Given the description of an element on the screen output the (x, y) to click on. 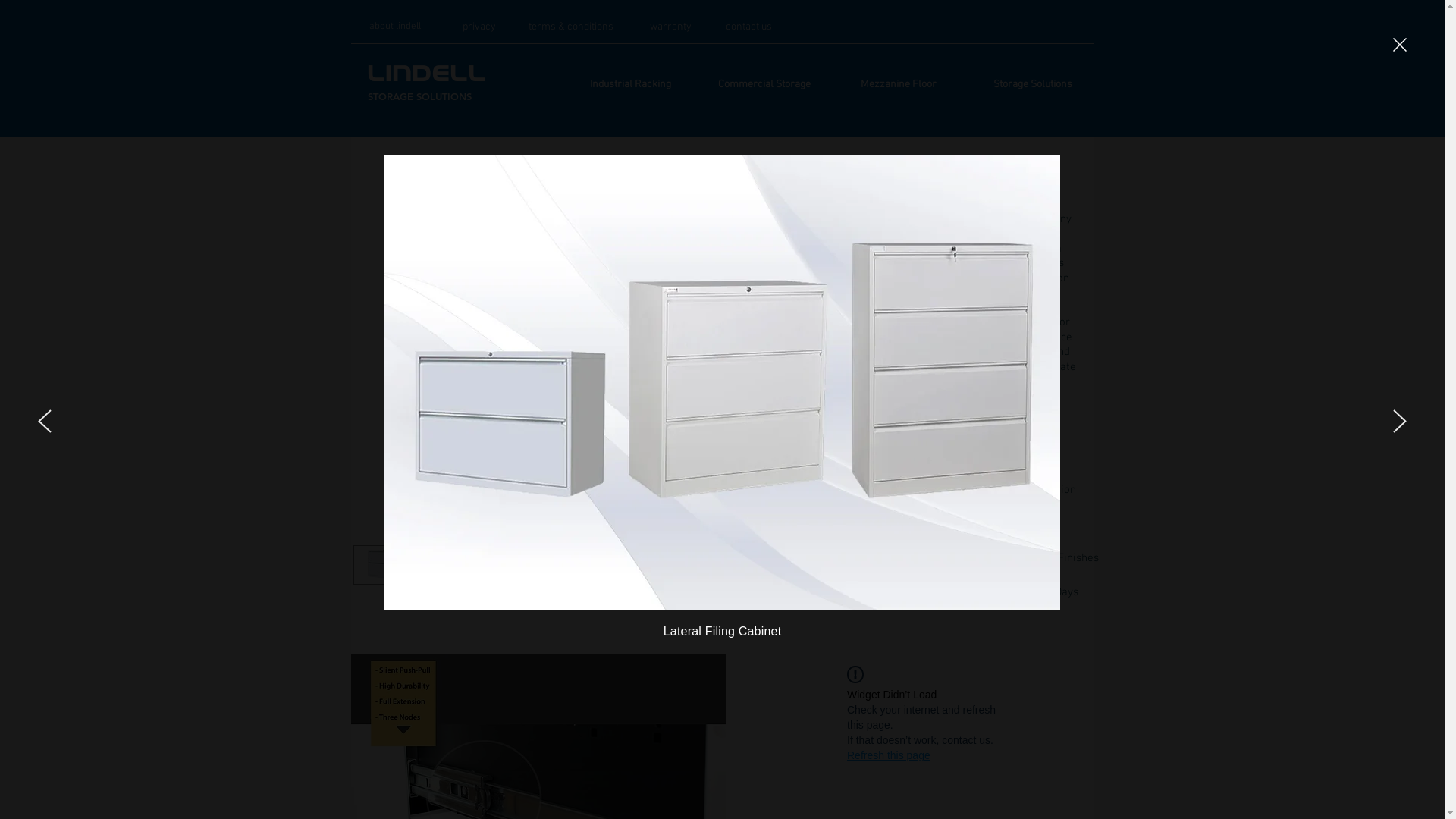
Storage Solutions Element type: text (1033, 84)
STORAGE SOLUTIONS Element type: text (418, 97)
Site Search Element type: hover (1002, 29)
LiNDELL Element type: text (426, 73)
contact us Element type: text (747, 26)
about lindell Element type: text (395, 26)
privacy Element type: text (478, 26)
Commercial Storage Element type: text (764, 84)
warranty Element type: text (669, 26)
Refresh this page Element type: text (888, 754)
terms & conditions Element type: text (569, 26)
Mezzanine Floor Element type: text (898, 84)
Industrial Racking Element type: text (629, 84)
